Given the description of an element on the screen output the (x, y) to click on. 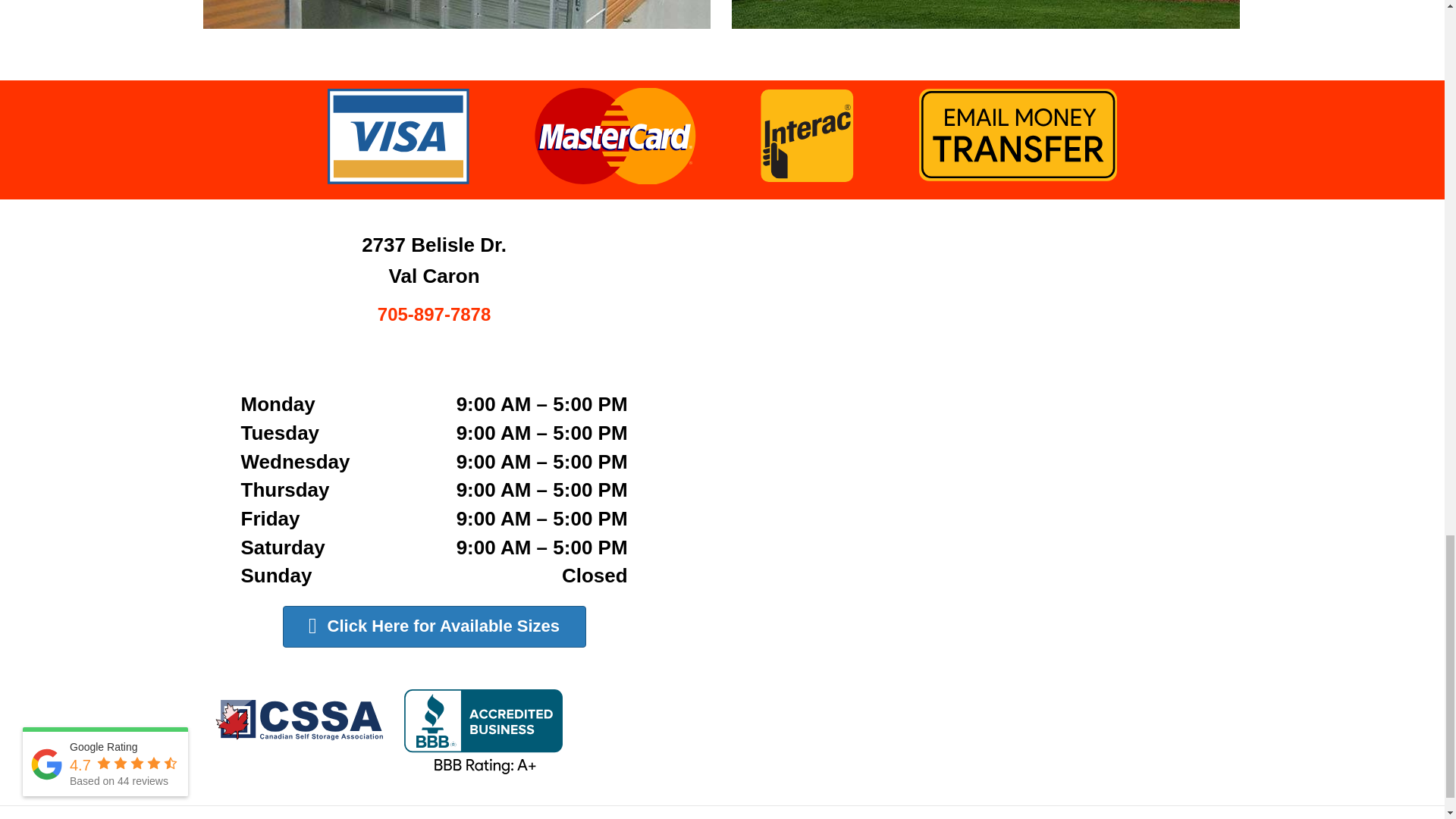
Click Here for Available Sizes (434, 626)
Asset 1 (386, 731)
Asset 5 (722, 135)
705-897-7878 (433, 316)
